Given the description of an element on the screen output the (x, y) to click on. 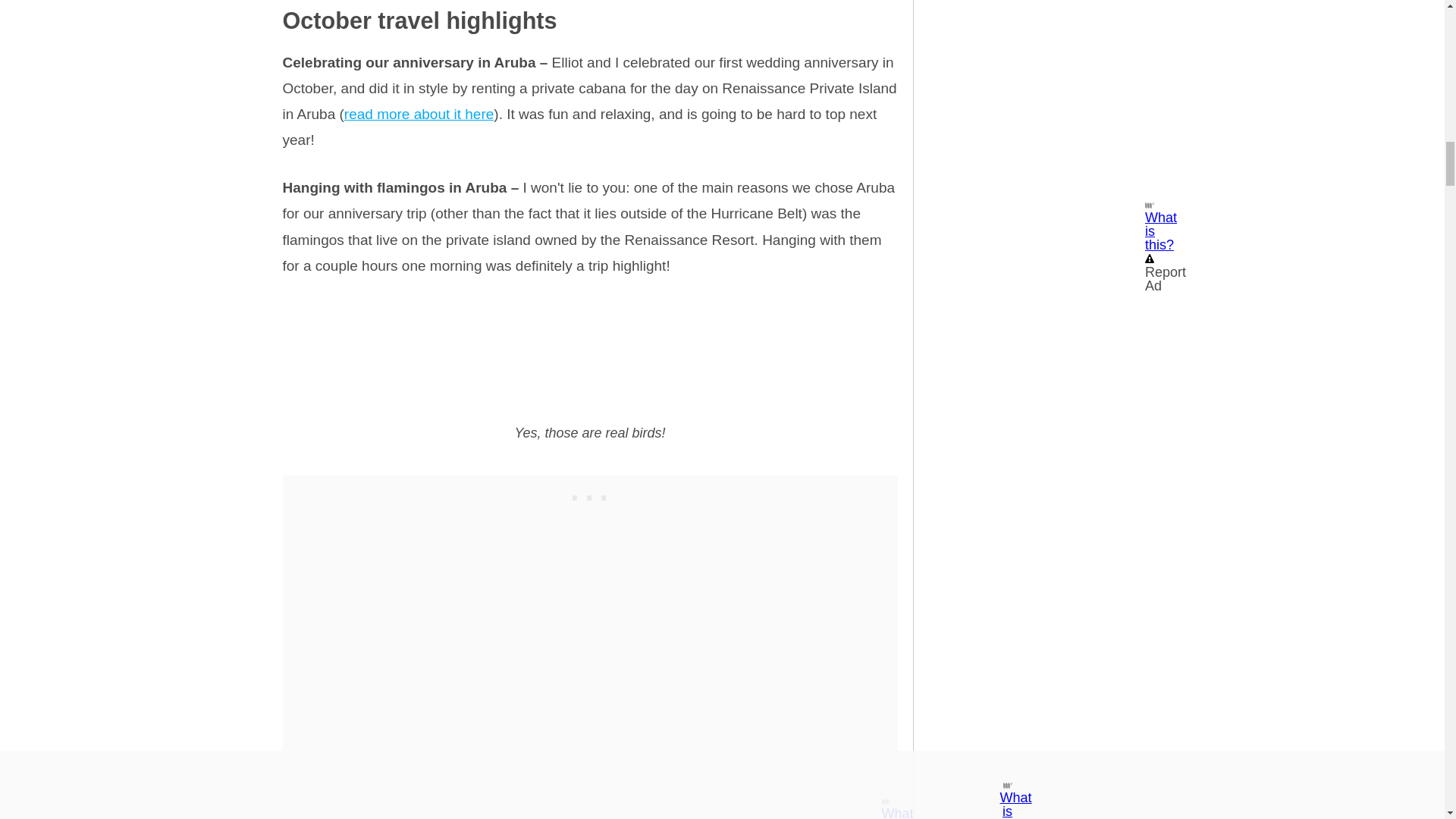
3rd party ad content (589, 494)
